Given the description of an element on the screen output the (x, y) to click on. 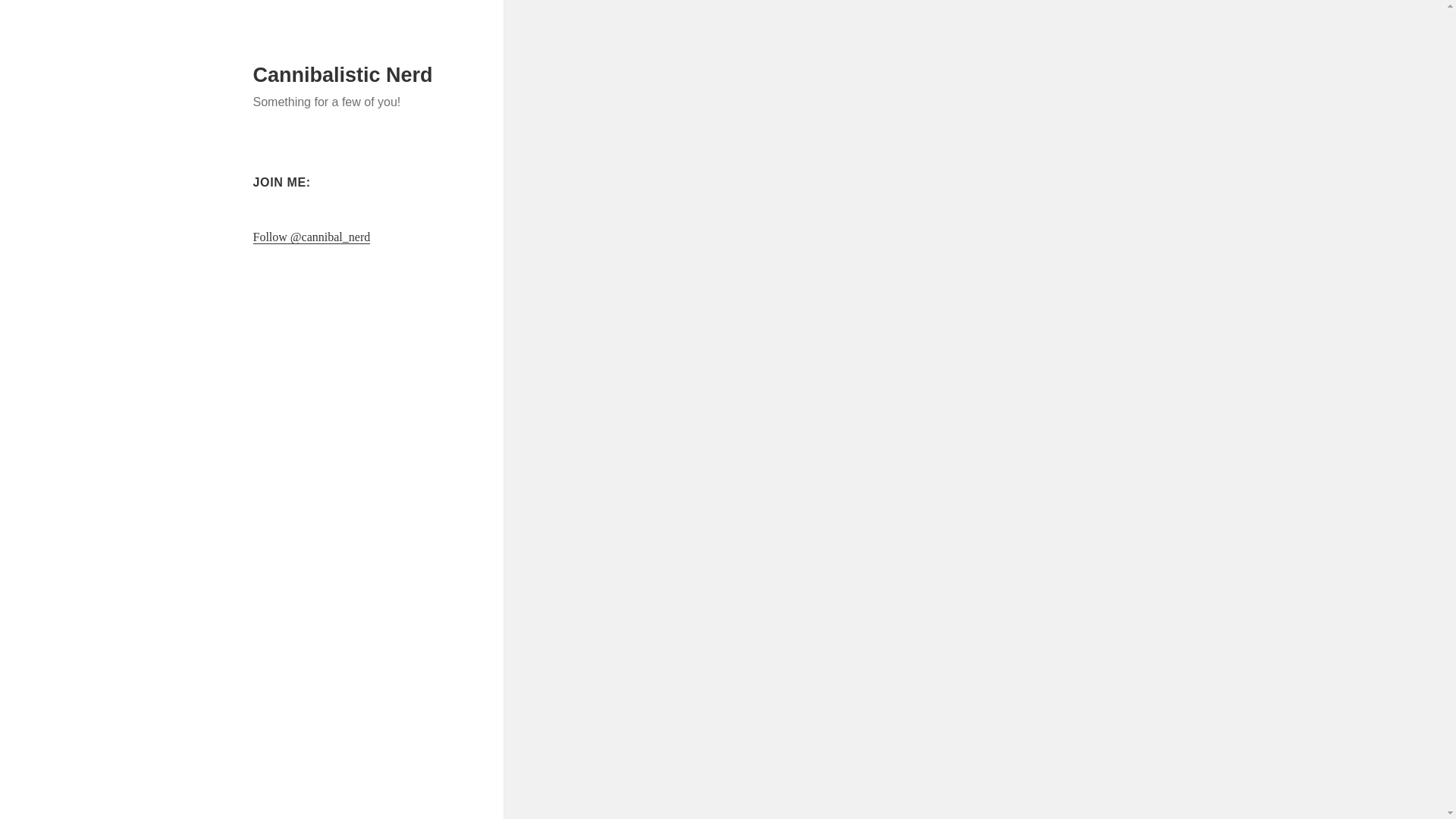
Cannibalistic Nerd (342, 74)
